Given the description of an element on the screen output the (x, y) to click on. 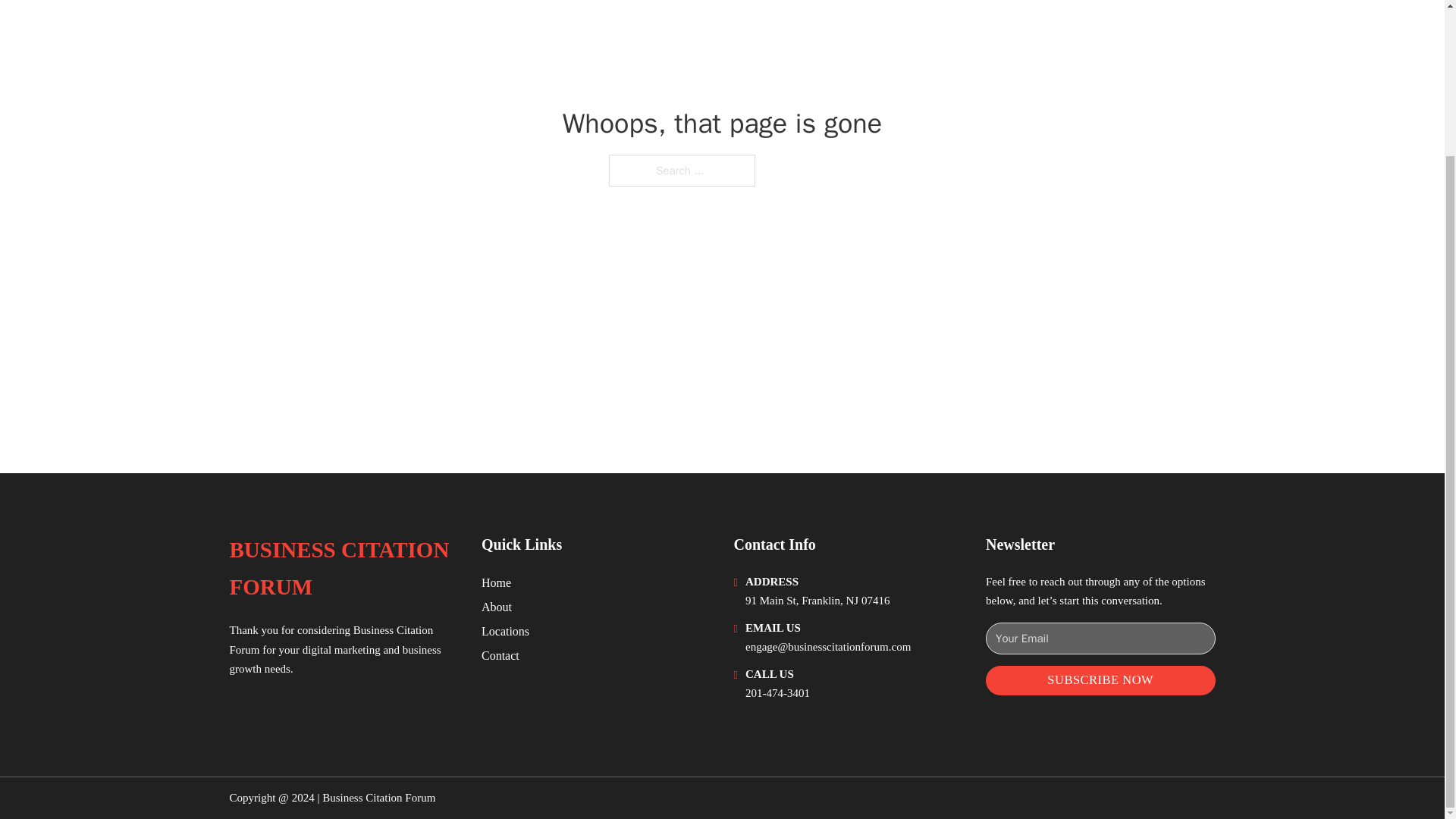
Locations (505, 630)
BUSINESS CITATION FORUM (343, 568)
Contact (500, 655)
About (496, 607)
SUBSCRIBE NOW (1100, 680)
Home (496, 582)
201-474-3401 (777, 693)
